Given the description of an element on the screen output the (x, y) to click on. 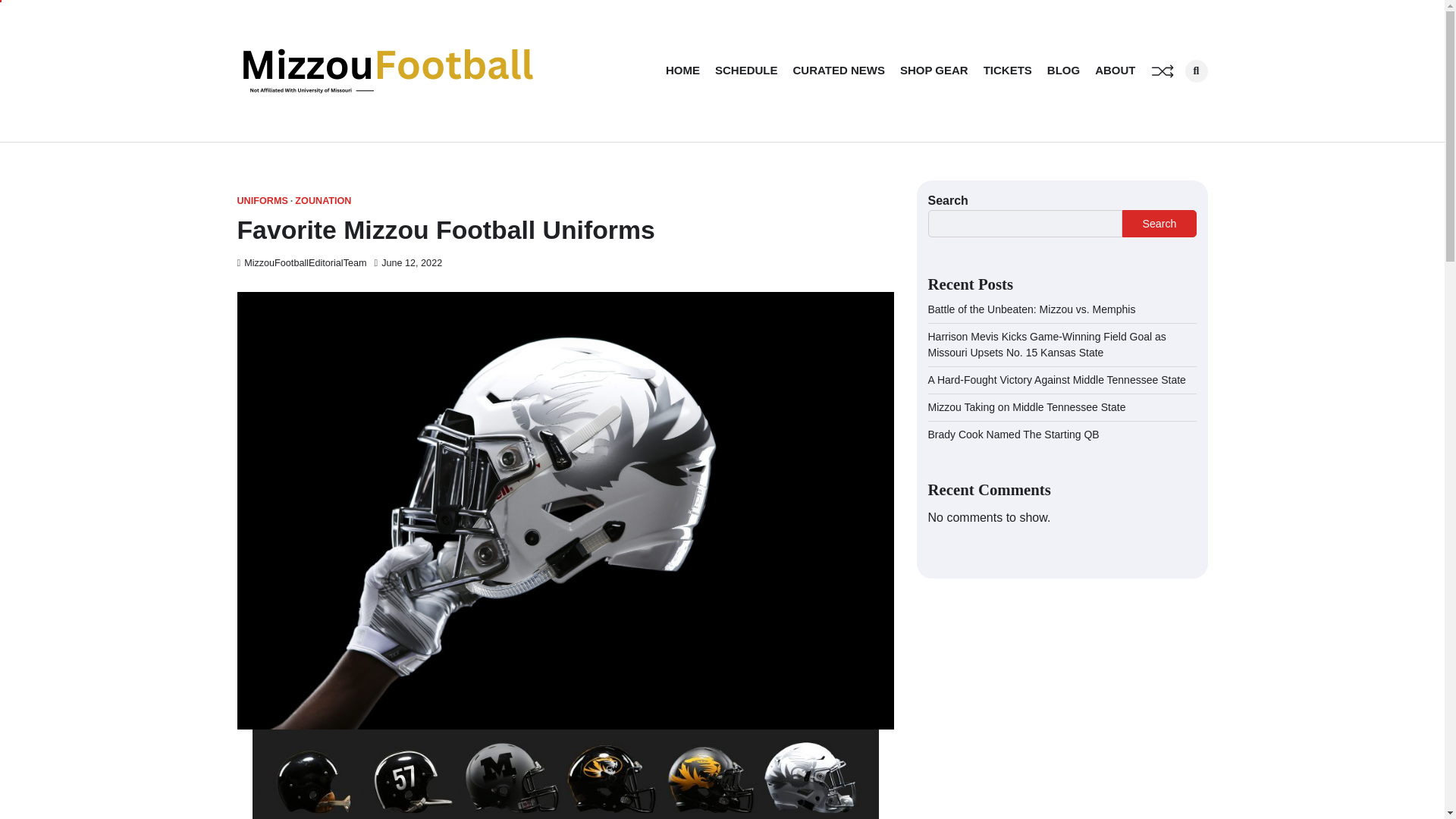
June 12, 2022 (408, 262)
CURATED NEWS (839, 70)
MizzouFootballEditorialTeam (300, 262)
Mizzou Taking on Middle Tennessee State (1026, 407)
ZOUNATION (322, 201)
BLOG (1063, 70)
Brady Cook Named The Starting QB (1013, 434)
SCHEDULE (745, 70)
Search (1158, 223)
SHOP GEAR (933, 70)
HOME (682, 70)
TICKETS (1008, 70)
Search (1170, 103)
A Hard-Fought Victory Against Middle Tennessee State (1057, 379)
